Given the description of an element on the screen output the (x, y) to click on. 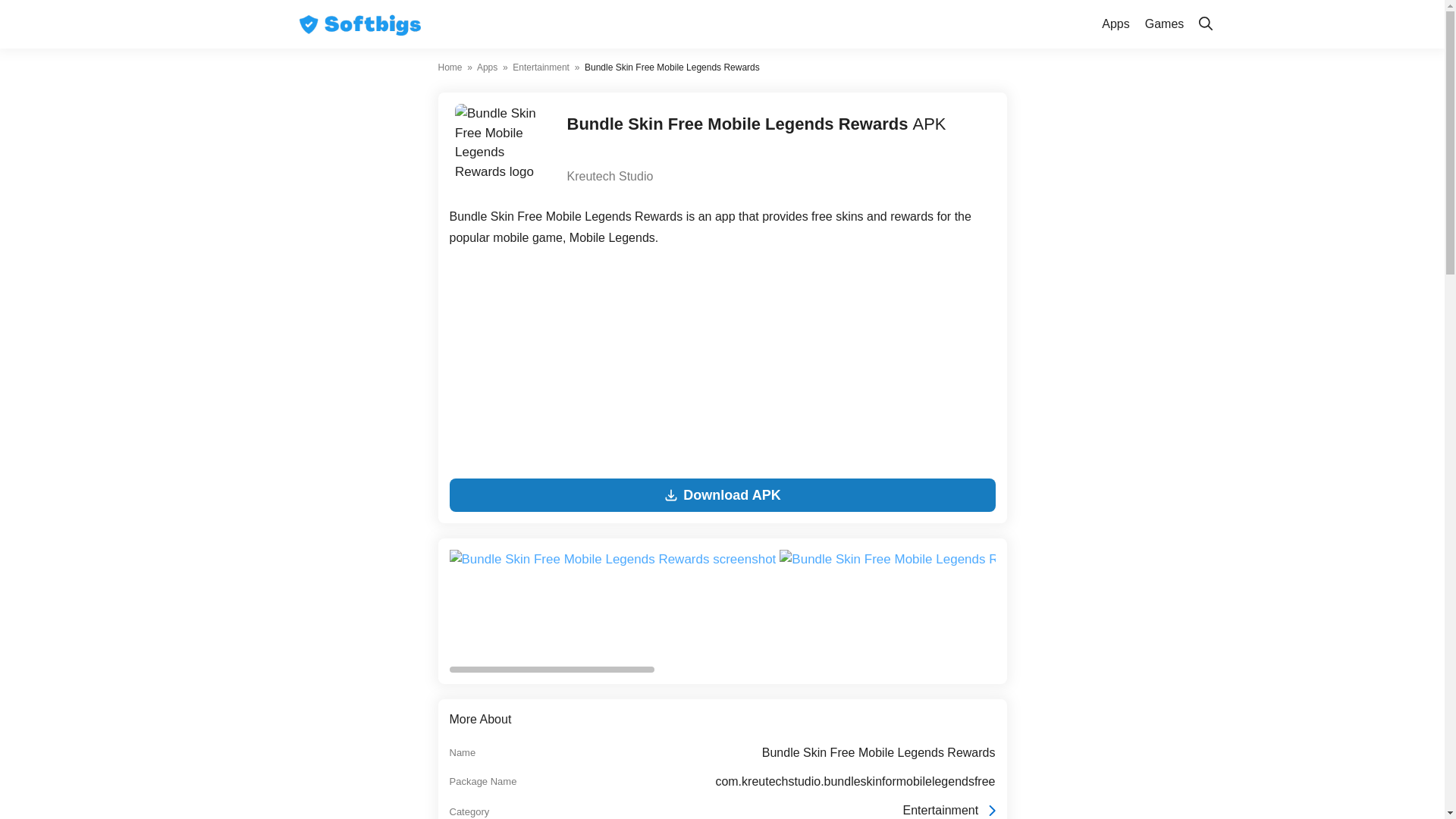
Bundle Skin Free Mobile Legends Rewards screenshot (1275, 605)
Bundle Skin Free Mobile Legends Rewards screenshot (612, 559)
Home (450, 67)
Advertisement (721, 366)
Bundle Skin Free Mobile Legends Rewards screenshot (942, 559)
Bundle Skin Free Mobile Legends Rewards screenshot (943, 605)
Bundle Skin Free Mobile Legends Rewards screenshot (1273, 559)
Apps (487, 67)
Entertainment (540, 67)
Bundle Skin Free Mobile Legends Rewards screenshot (613, 605)
